Given the description of an element on the screen output the (x, y) to click on. 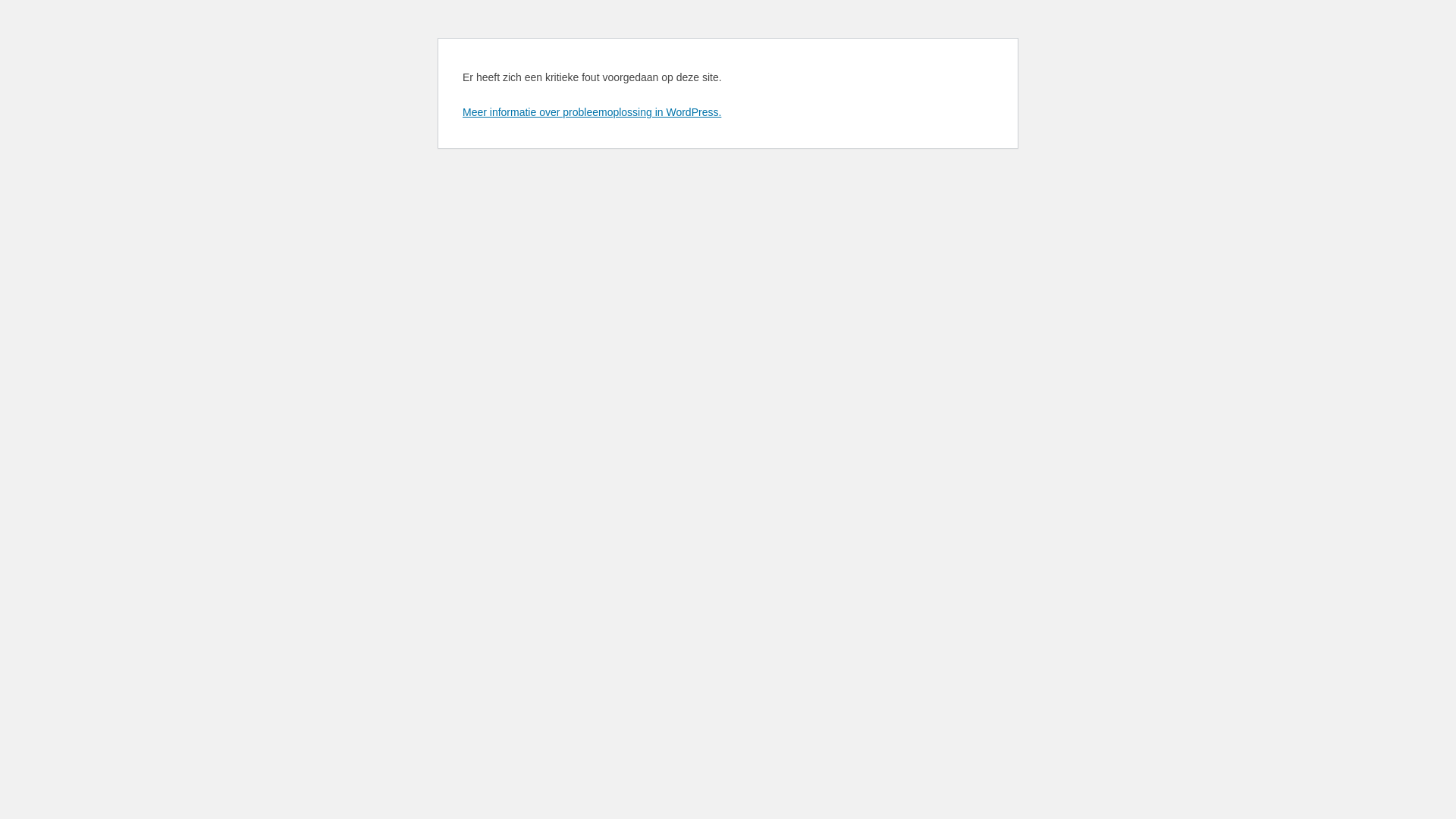
Meer informatie over probleemoplossing in WordPress. Element type: text (591, 112)
